Given the description of an element on the screen output the (x, y) to click on. 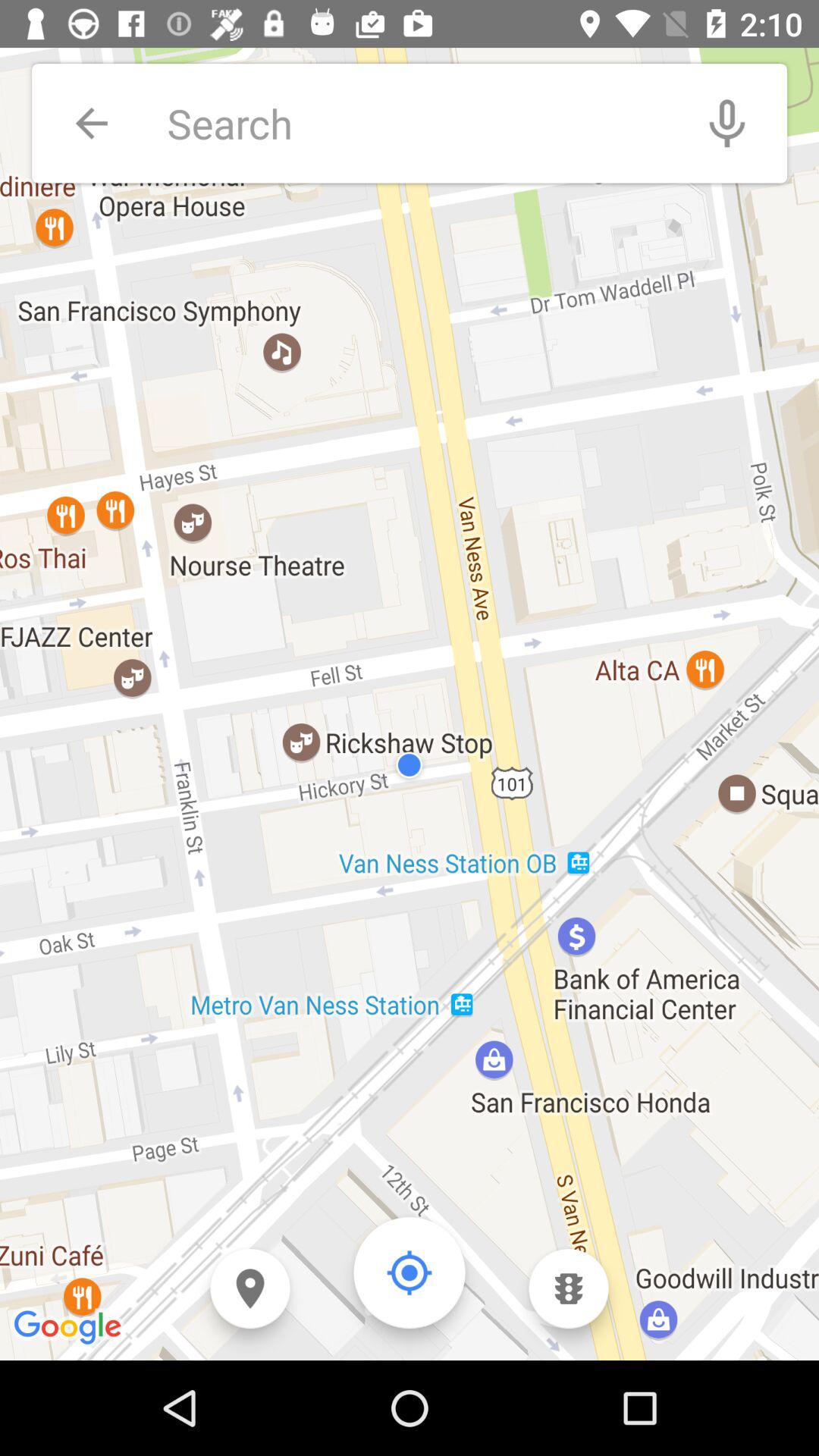
search by voice (727, 123)
